Given the description of an element on the screen output the (x, y) to click on. 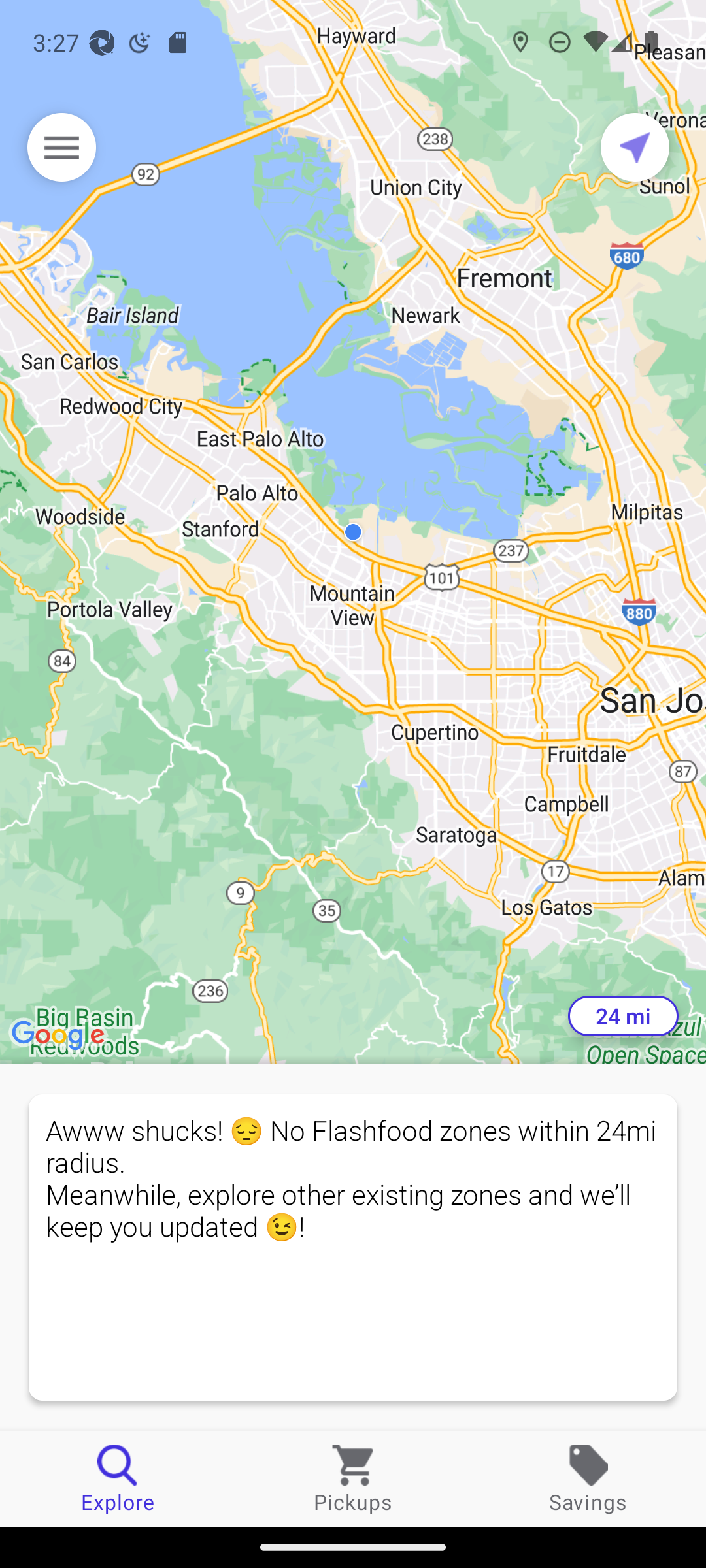
Menu (61, 146)
Current location (634, 146)
24 mi (623, 1015)
Pickups (352, 1478)
Savings (588, 1478)
